Given the description of an element on the screen output the (x, y) to click on. 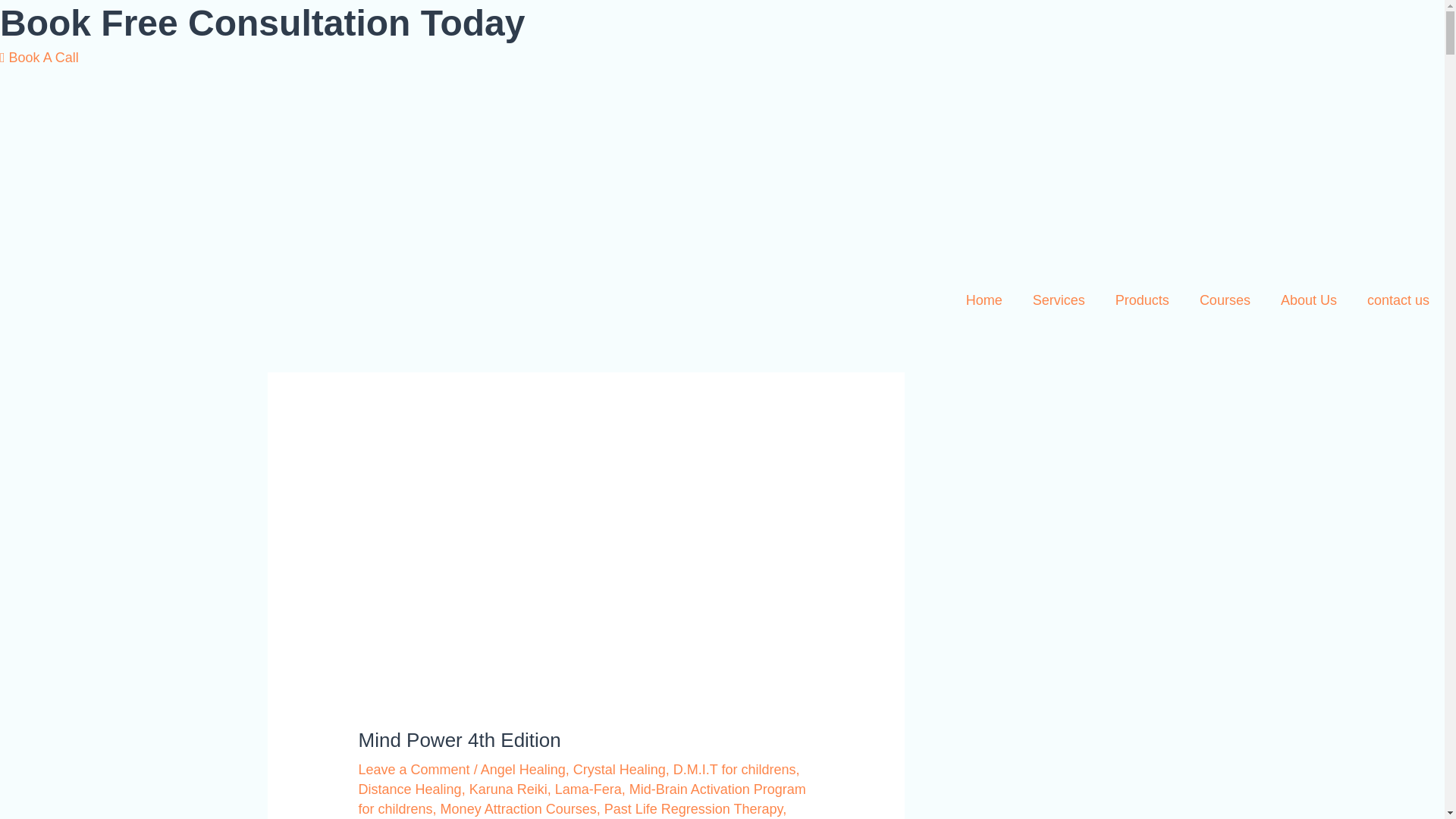
Book A Call (39, 57)
Home (983, 299)
Products (1142, 299)
Courses (1225, 299)
Services (1058, 299)
About Us (1308, 299)
